Given the description of an element on the screen output the (x, y) to click on. 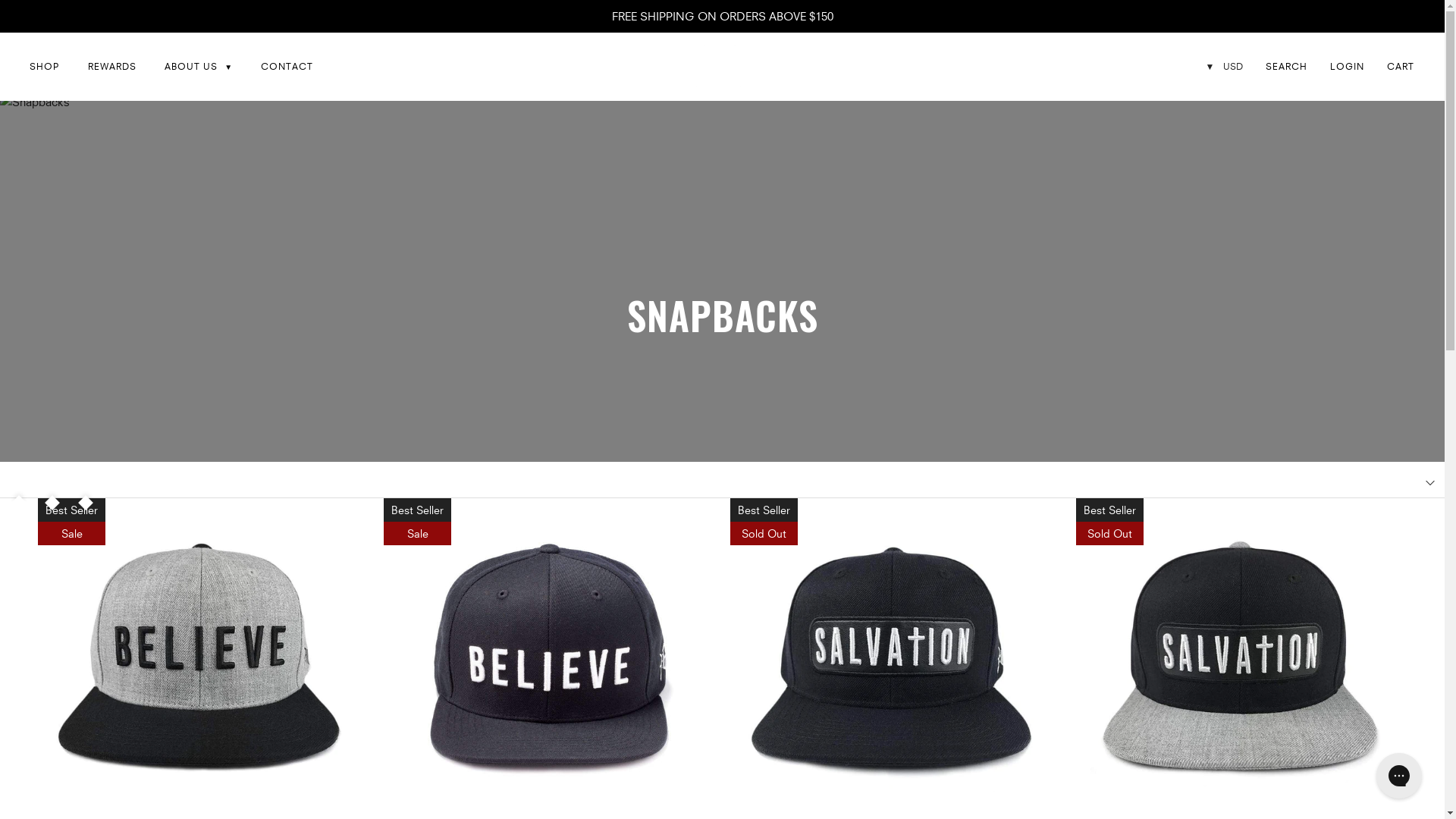
REWARDS Element type: text (111, 66)
USD Element type: text (1222, 97)
GBP Element type: text (1222, 178)
INR Element type: text (1222, 151)
JPY Element type: text (1222, 257)
Gorgias live chat messenger Element type: hover (1398, 775)
CAD Element type: text (1222, 125)
SEARCH Element type: text (1286, 65)
LOGIN Element type: text (1346, 65)
EUR Element type: text (1222, 231)
AUD Element type: text (1222, 204)
CART Element type: text (1400, 65)
CONTACT Element type: text (286, 66)
ABOUT US Element type: text (198, 66)
316collection Element type: hover (717, 66)
SHOP Element type: text (44, 66)
